Given the description of an element on the screen output the (x, y) to click on. 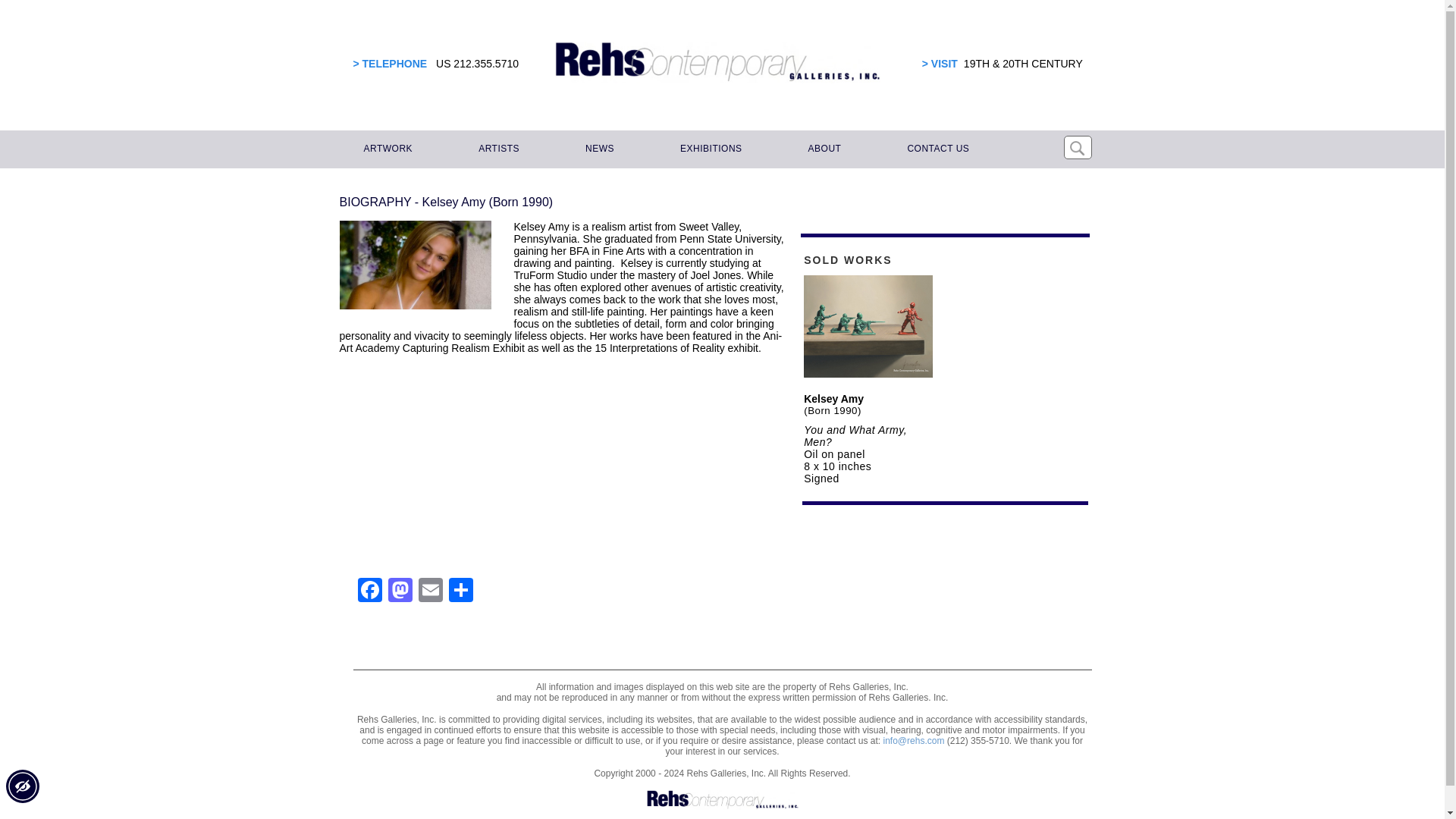
CONTACT US (935, 149)
NEWS (597, 149)
ABOUT (822, 149)
Email (429, 592)
ARTWORK (386, 149)
EXHIBITIONS (708, 149)
Facebook (370, 592)
Accessibility Menu (22, 786)
Logo (721, 799)
Mastodon (399, 592)
